Given the description of an element on the screen output the (x, y) to click on. 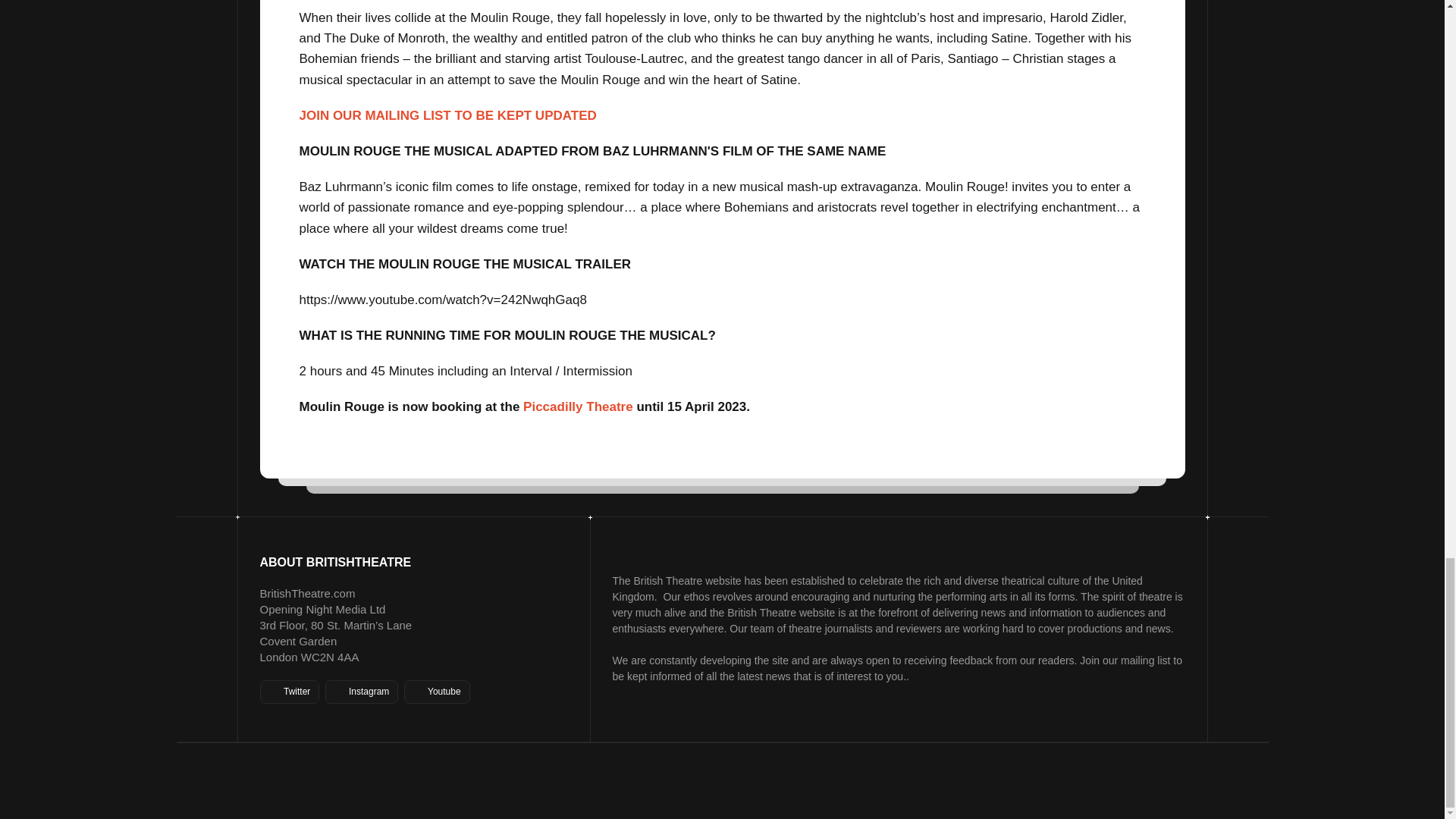
Twitter (288, 691)
Instagram (360, 691)
Youtube (437, 691)
Piccadilly Theatre (577, 406)
JOIN OUR MAILING LIST TO BE KEPT UPDATED (446, 115)
